Given the description of an element on the screen output the (x, y) to click on. 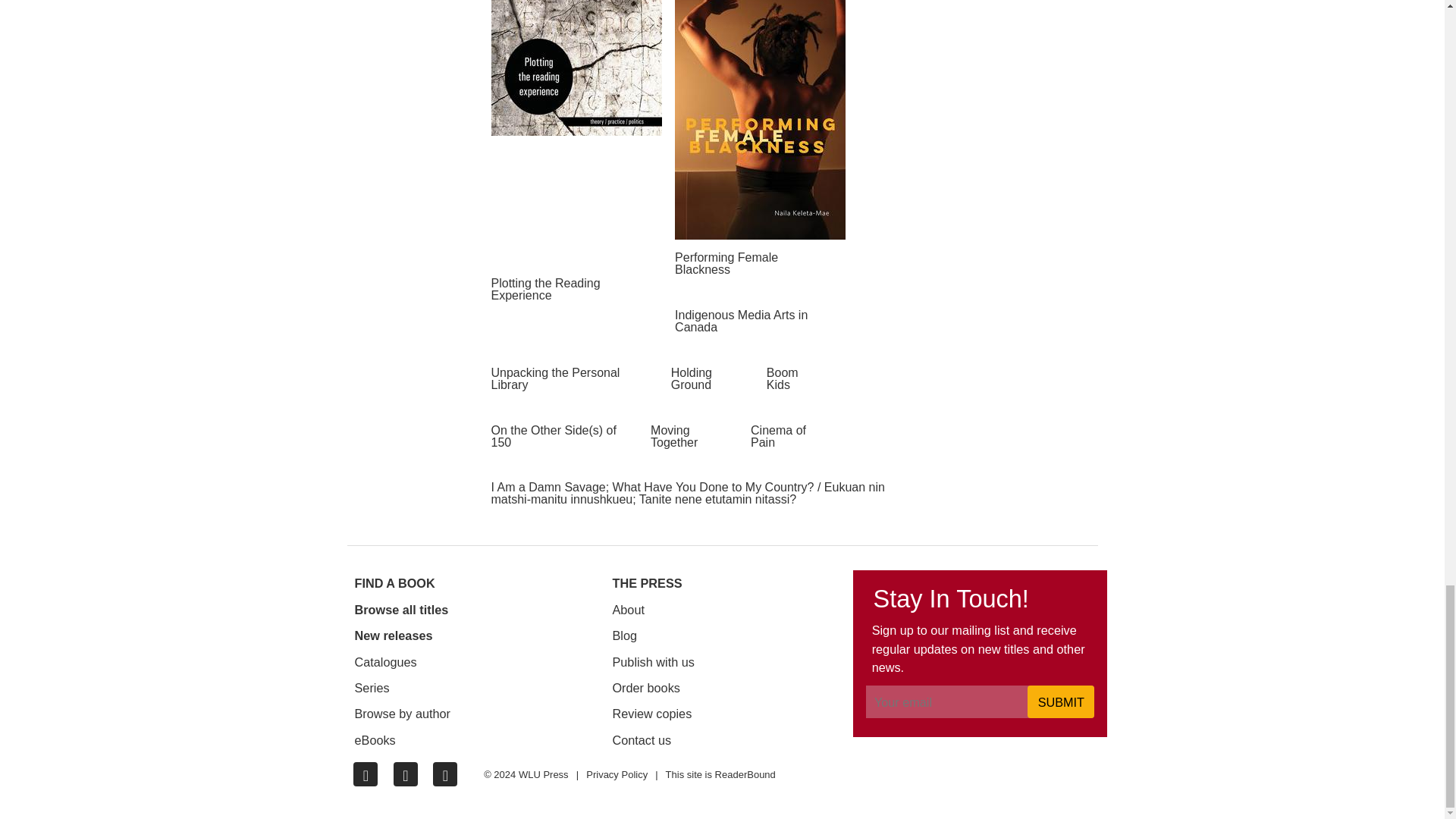
View Boom Kids (796, 372)
View Indigenous Media Arts in Canada (764, 315)
View Unpacking the Personal Library (576, 372)
View Holding Ground (713, 372)
View Cinema of Pain (791, 430)
View Moving Together (694, 430)
